Given the description of an element on the screen output the (x, y) to click on. 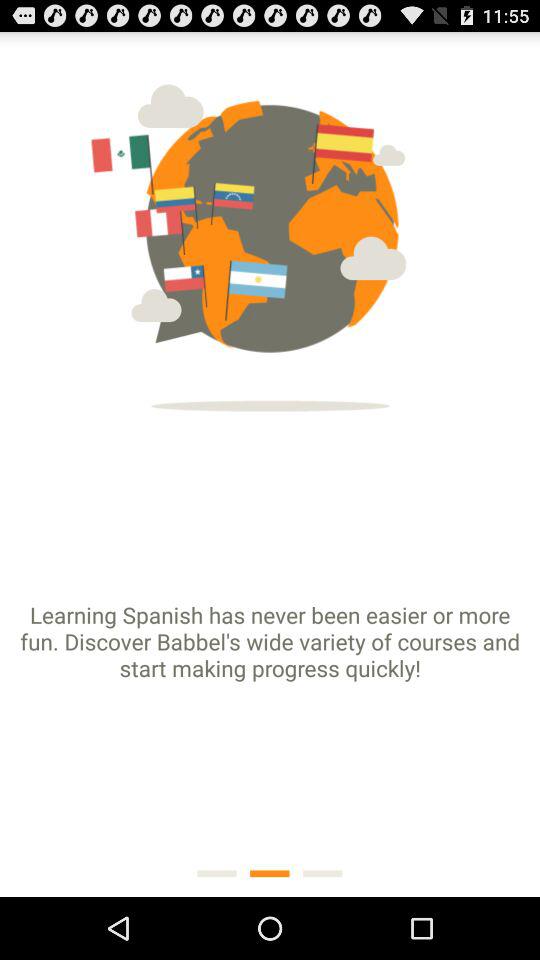
go to the image (269, 228)
click on the flag in the top left (153, 160)
select the first flag on the right side of image (312, 151)
